Given the description of an element on the screen output the (x, y) to click on. 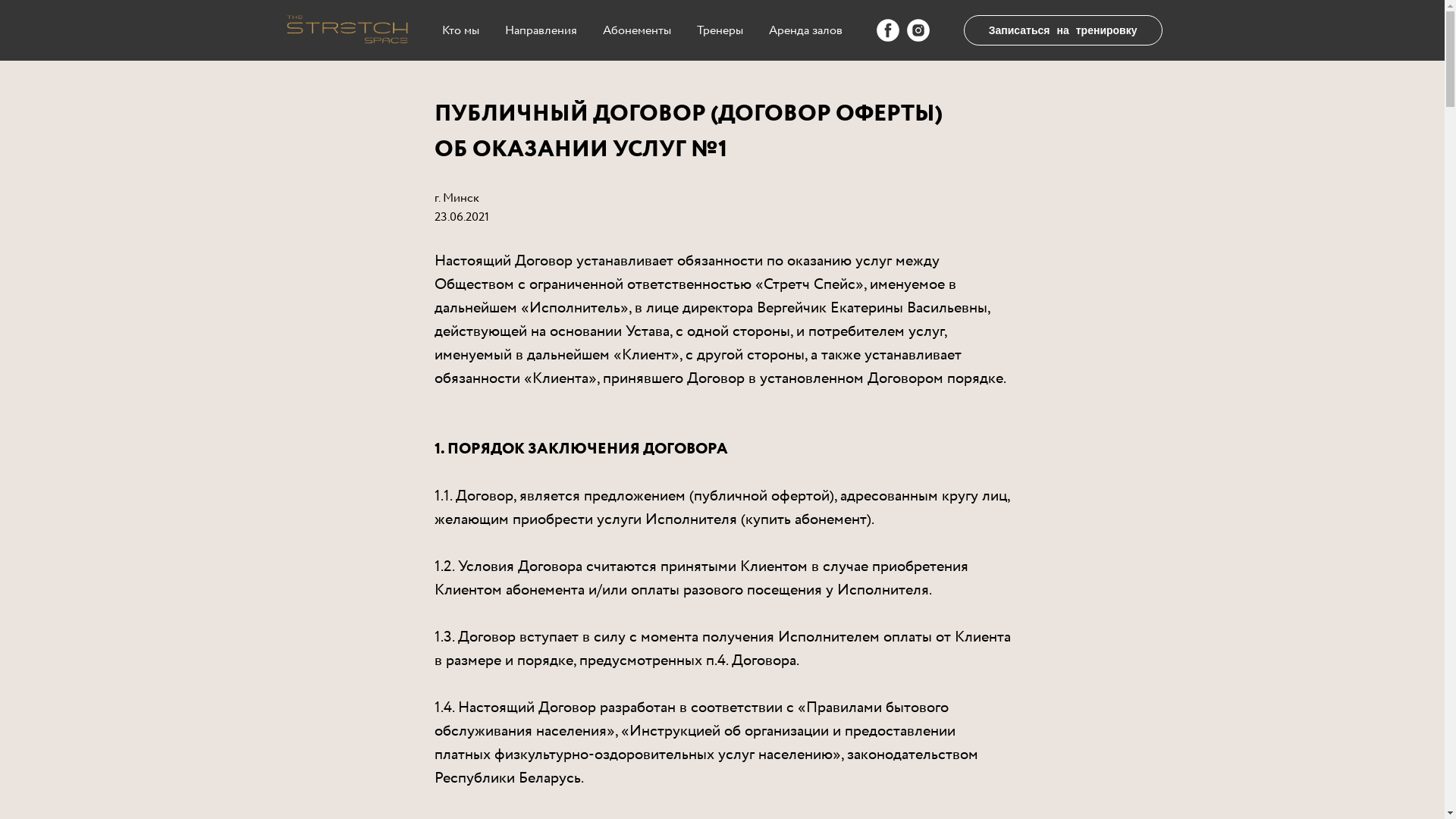
Instagram Element type: text (917, 29)
